Given the description of an element on the screen output the (x, y) to click on. 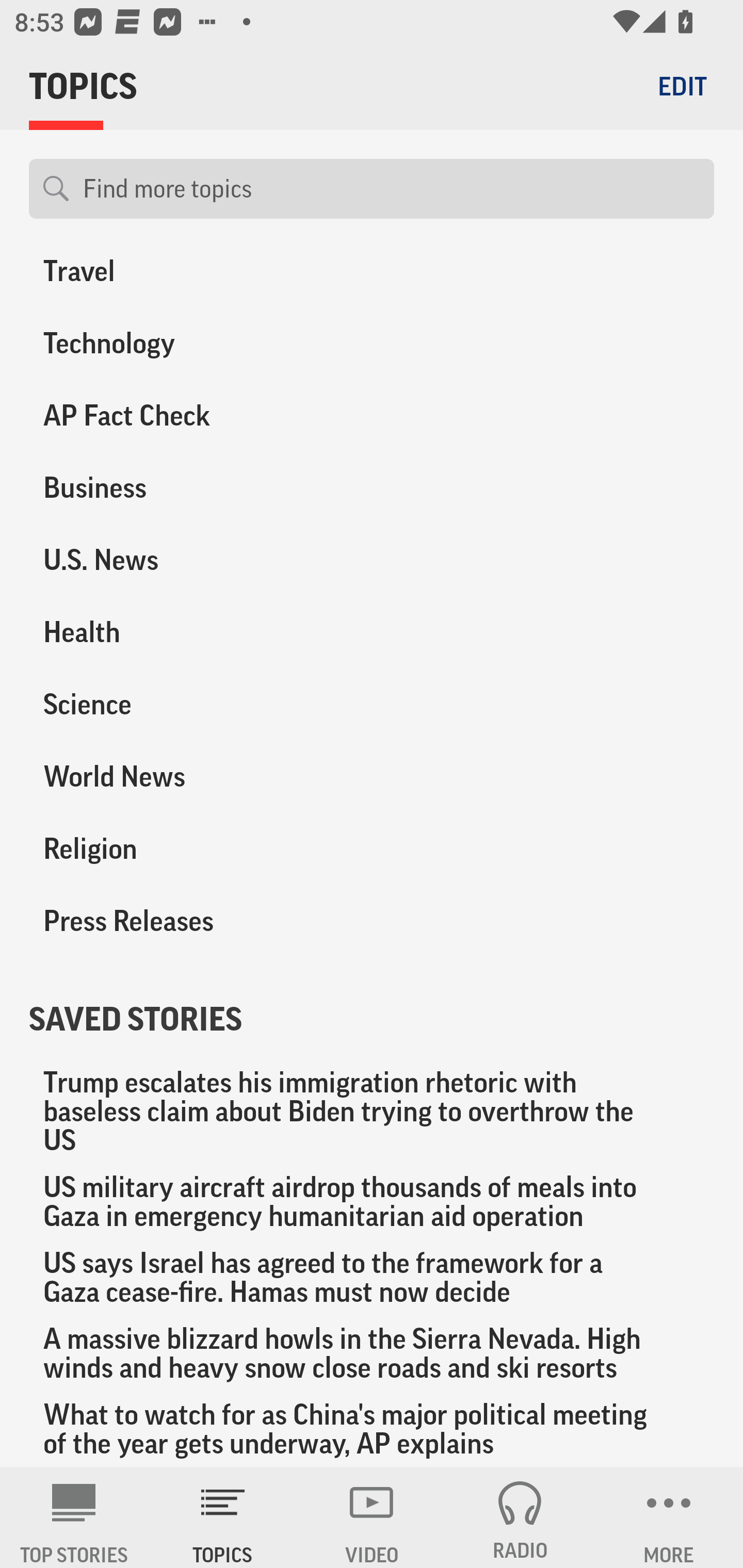
EDIT (682, 86)
Find more topics (391, 188)
Travel (185, 277)
Technology (185, 343)
AP Fact Check (185, 415)
Business (185, 487)
U.S. News (185, 559)
Health (185, 631)
Science (185, 703)
World News (185, 776)
Religion (185, 848)
Press Releases (185, 921)
AP News TOP STORIES (74, 1517)
TOPICS (222, 1517)
VIDEO (371, 1517)
RADIO (519, 1517)
MORE (668, 1517)
